Given the description of an element on the screen output the (x, y) to click on. 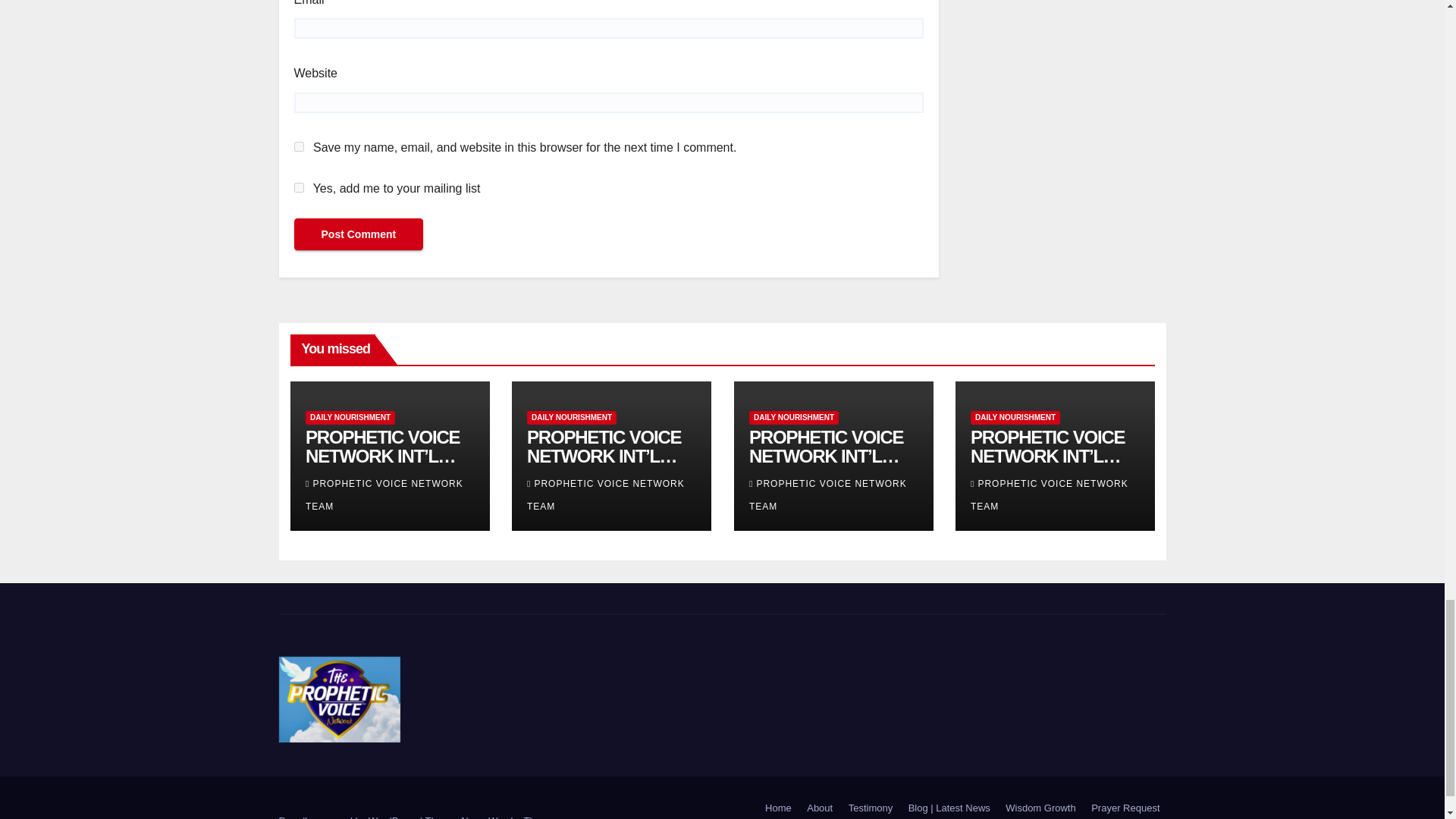
yes (299, 146)
Post Comment (358, 234)
1 (299, 187)
